Given the description of an element on the screen output the (x, y) to click on. 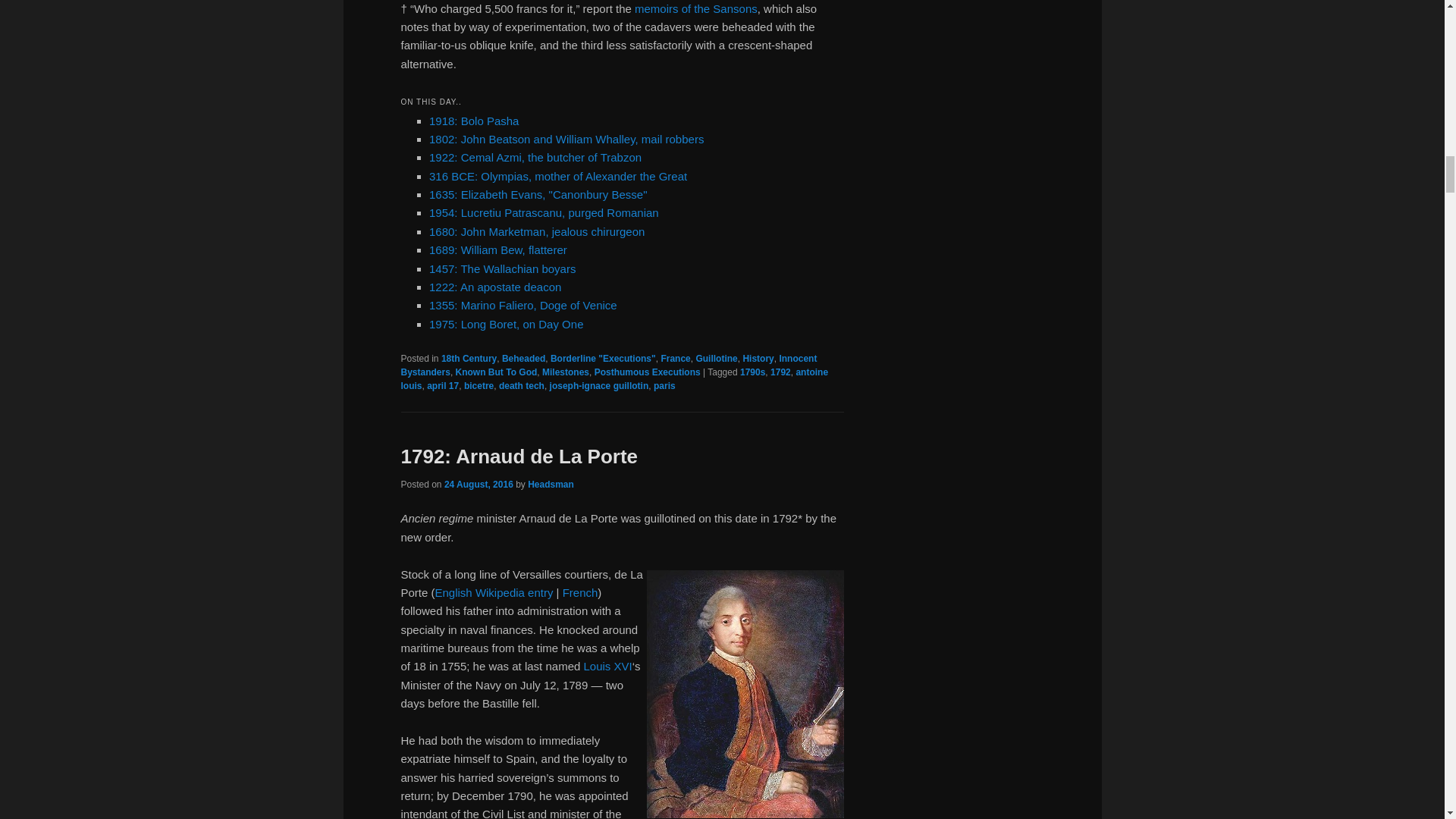
View all posts by Headsman (550, 484)
8:30 am (478, 484)
